Given the description of an element on the screen output the (x, y) to click on. 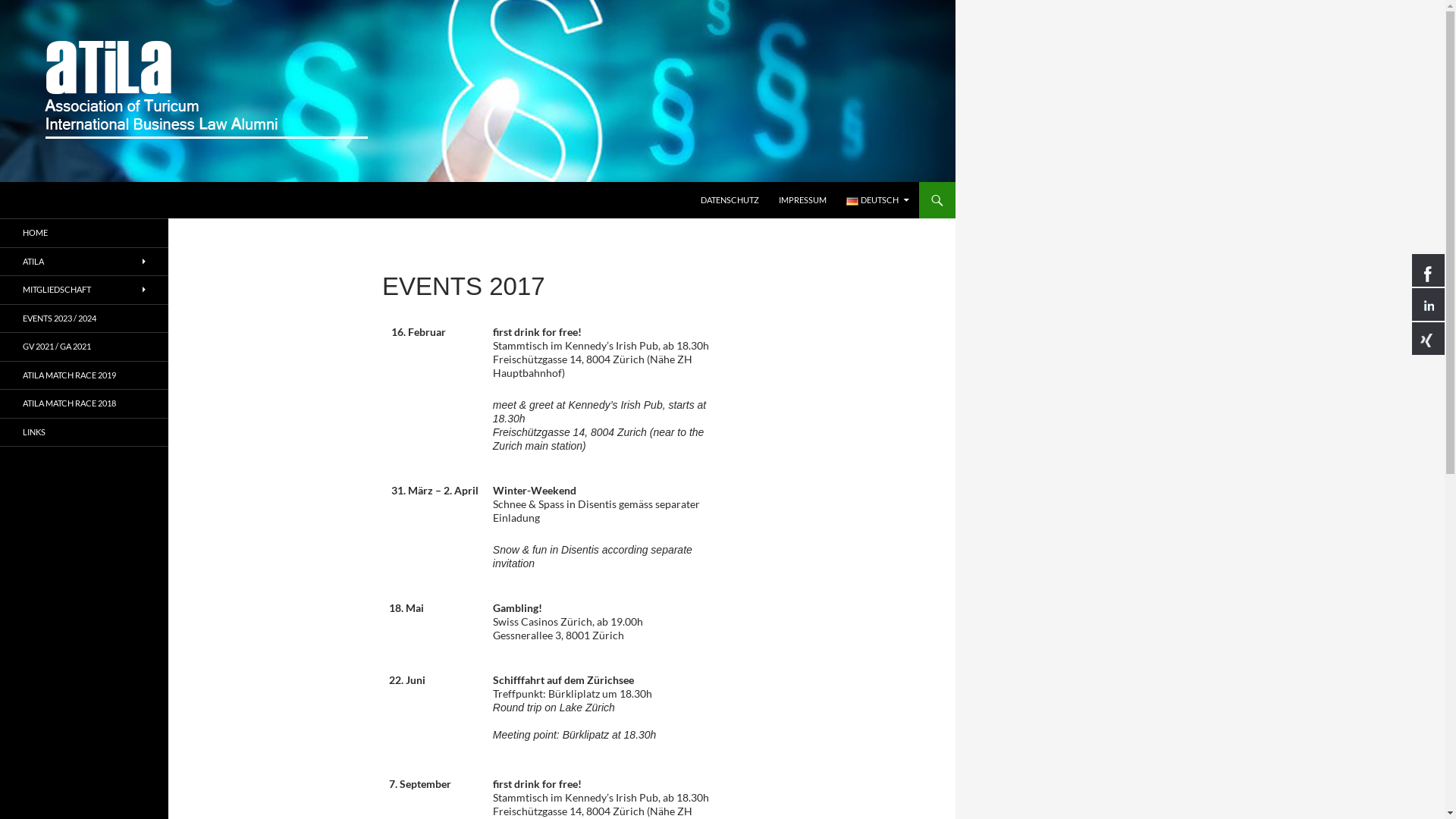
MITGLIEDSCHAFT Element type: text (84, 290)
ATILA Element type: text (84, 261)
DEUTSCH Element type: text (877, 200)
HOME Element type: text (84, 233)
ATILA MATCH RACE 2018 Element type: text (84, 403)
Suchen Element type: text (3, 182)
DATENSCHUTZ Element type: text (729, 200)
IMPRESSUM Element type: text (802, 200)
ATILA MATCH RACE 2019 Element type: text (84, 374)
LINKS Element type: text (84, 432)
SPRINGE ZUM INHALT Element type: text (700, 182)
EVENTS 2023 / 2024 Element type: text (84, 318)
ATILA Element type: text (41, 200)
GV 2021 / GA 2021 Element type: text (84, 346)
